Given the description of an element on the screen output the (x, y) to click on. 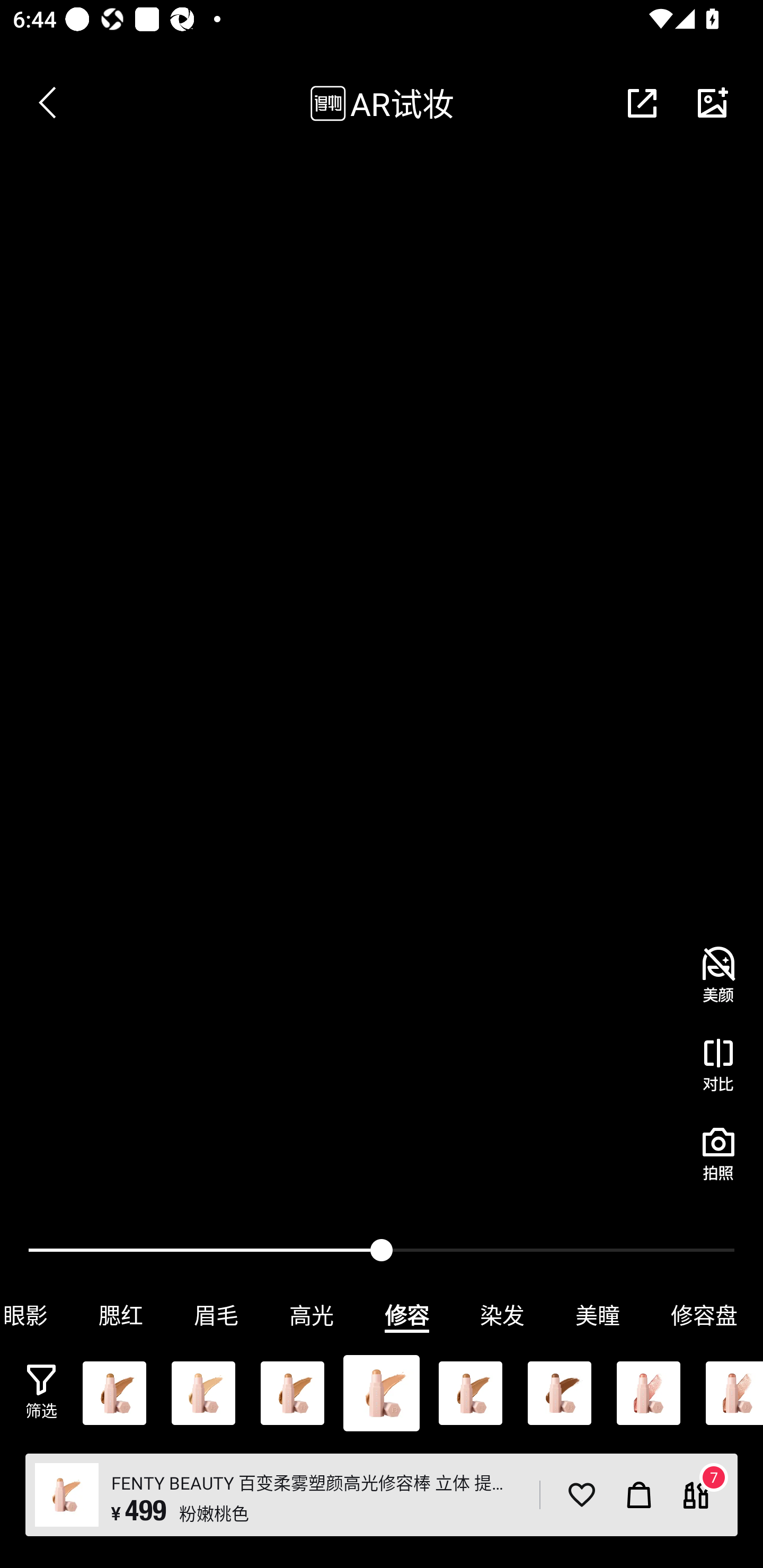
眼影 (36, 1315)
腮红 (120, 1315)
眉毛 (215, 1315)
高光 (311, 1315)
修容 (406, 1315)
染发 (502, 1315)
美瞳 (597, 1315)
修容盘 (704, 1315)
筛选 (41, 1392)
